Given the description of an element on the screen output the (x, y) to click on. 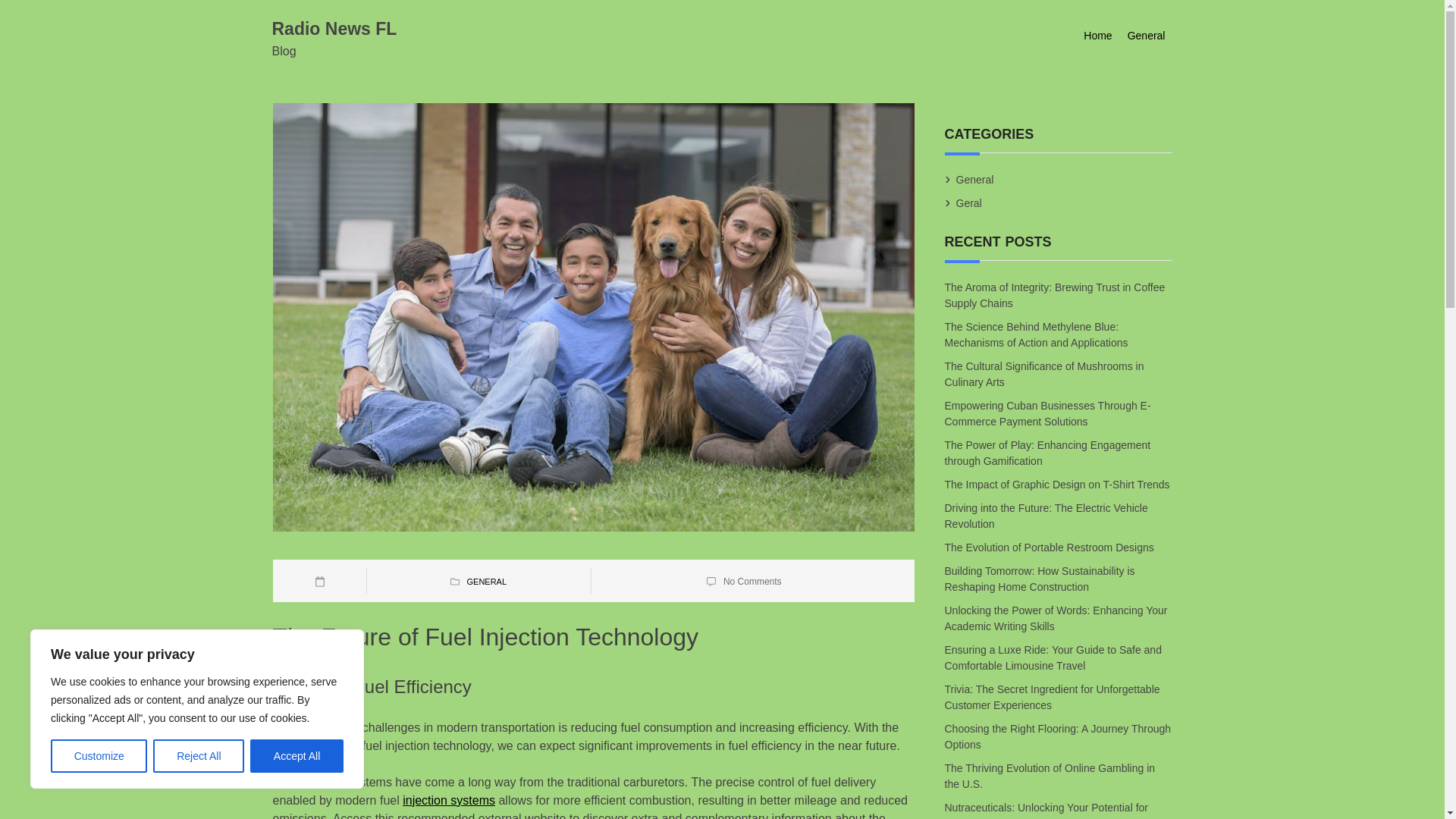
Geral (968, 203)
GENERAL (485, 581)
The Impact of Graphic Design on T-Shirt Trends (1058, 484)
General (974, 179)
Reject All (198, 756)
injection systems (449, 799)
The Cultural Significance of Mushrooms in Culinary Arts (1044, 373)
